Given the description of an element on the screen output the (x, y) to click on. 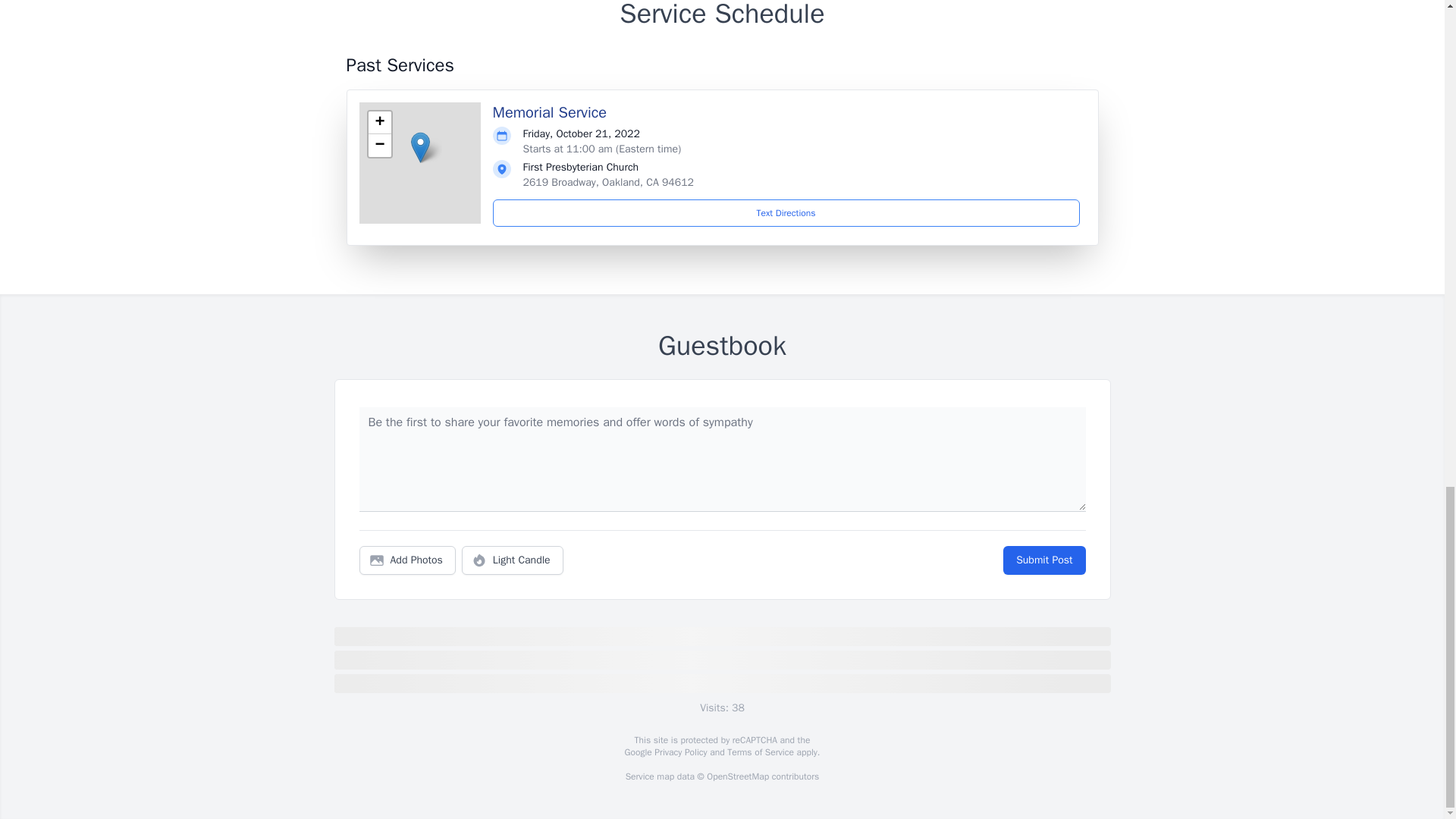
Submit Post (1043, 560)
Terms of Service (759, 752)
Privacy Policy (679, 752)
2619 Broadway, Oakland, CA 94612 (608, 182)
Zoom out (379, 145)
Light Candle (512, 560)
Zoom in (379, 122)
OpenStreetMap (737, 776)
Text Directions (786, 212)
Add Photos (407, 560)
